Given the description of an element on the screen output the (x, y) to click on. 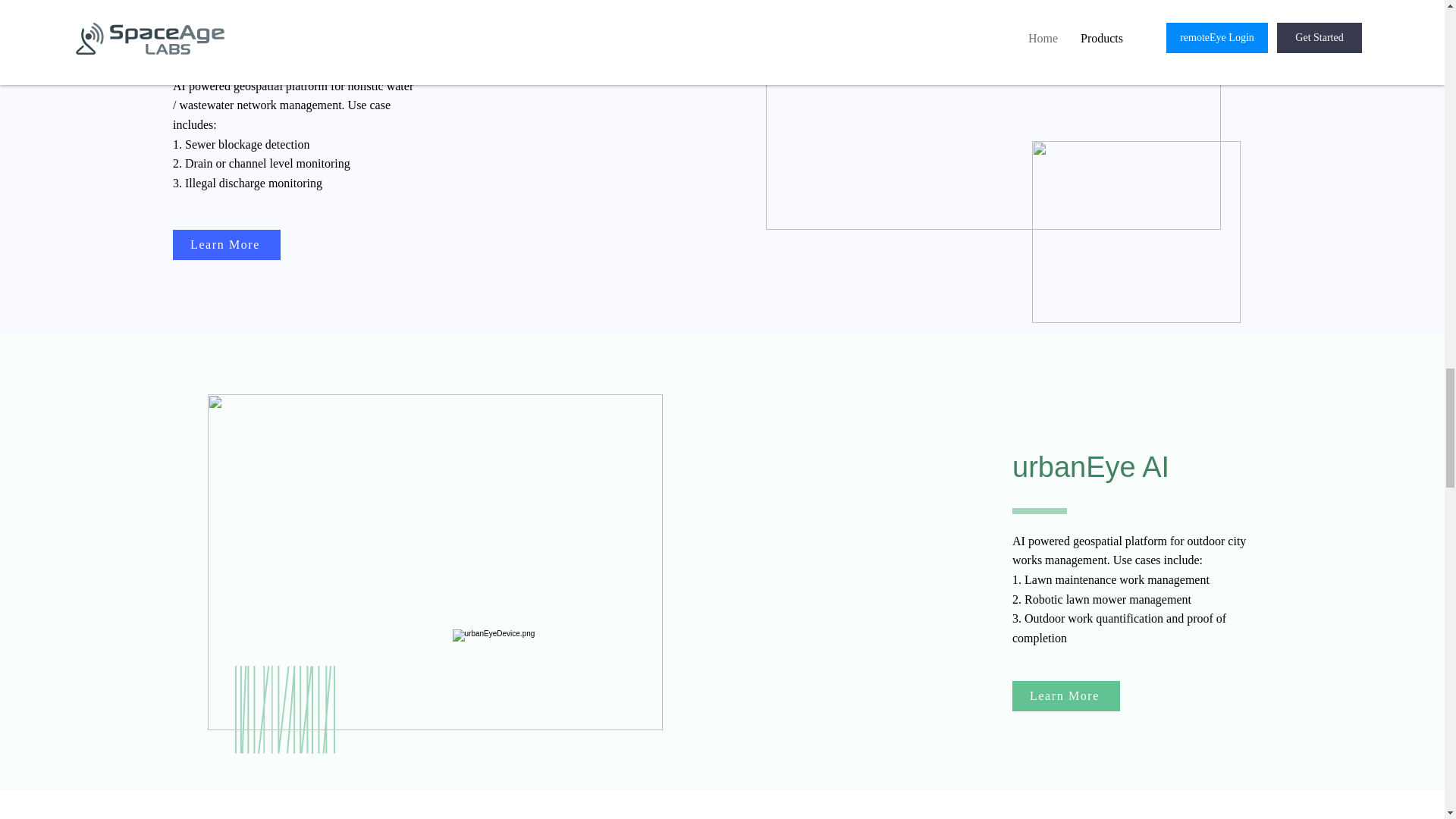
Learn More (1065, 695)
hydroeye.png (993, 115)
urbanEyeDevice.png (550, 716)
Learn More (227, 245)
HydroEyeProduct.png (1135, 231)
